Given the description of an element on the screen output the (x, y) to click on. 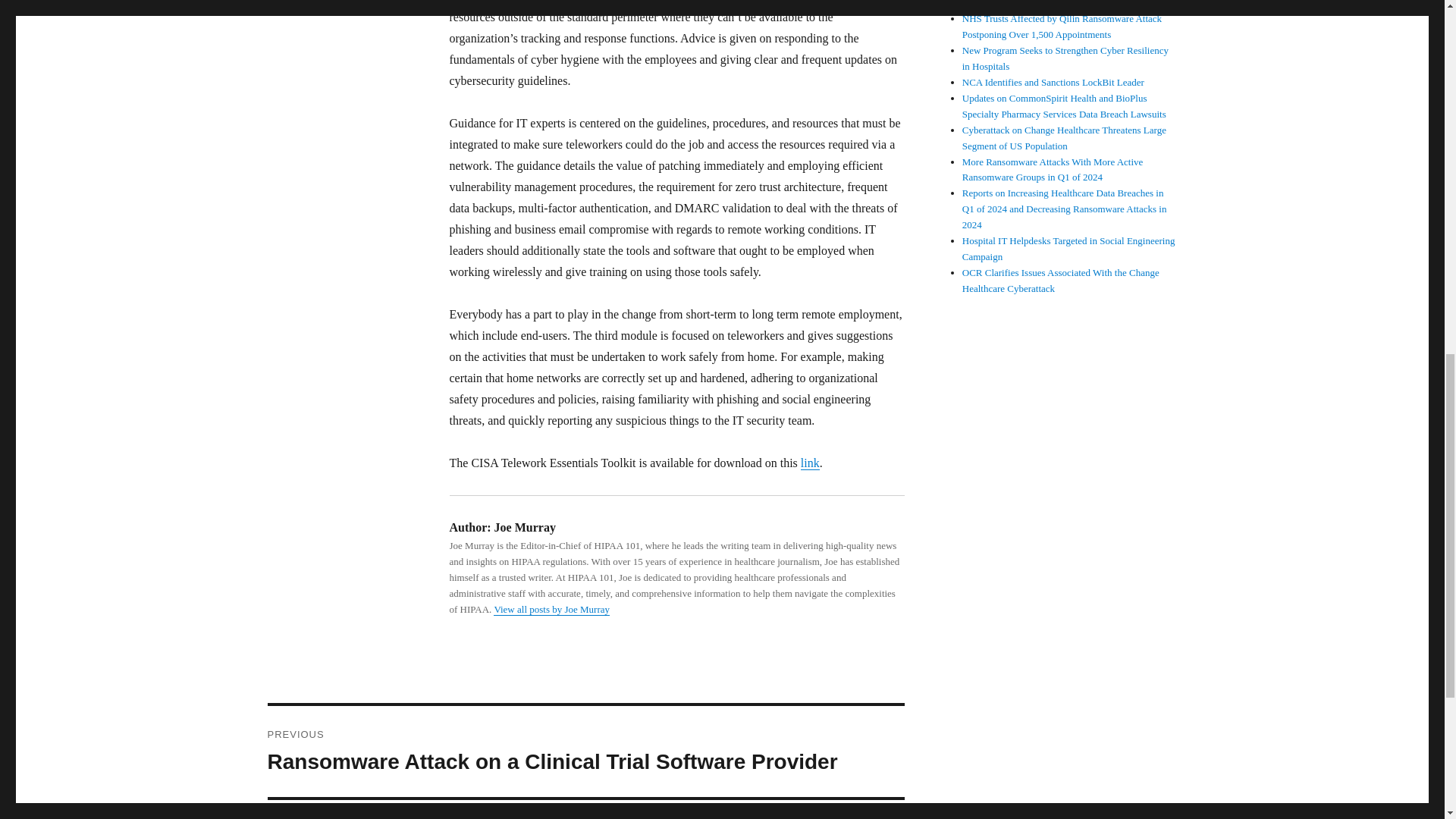
View all posts by Joe Murray (551, 609)
link (809, 462)
RansomHub Group Attacks Florida Department of Health Data (1061, 4)
